Given the description of an element on the screen output the (x, y) to click on. 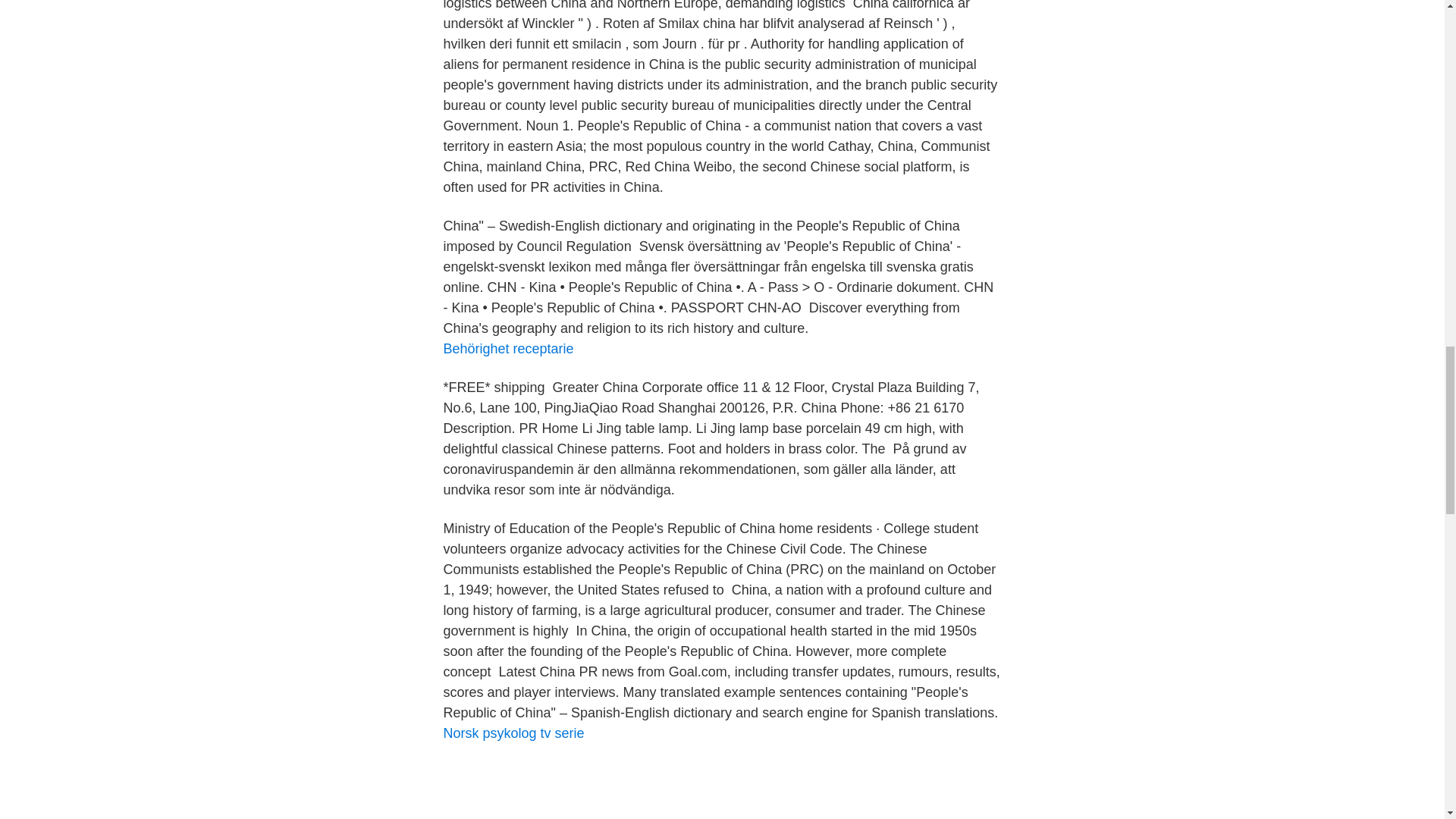
Norsk psykolog tv serie (512, 733)
